Given the description of an element on the screen output the (x, y) to click on. 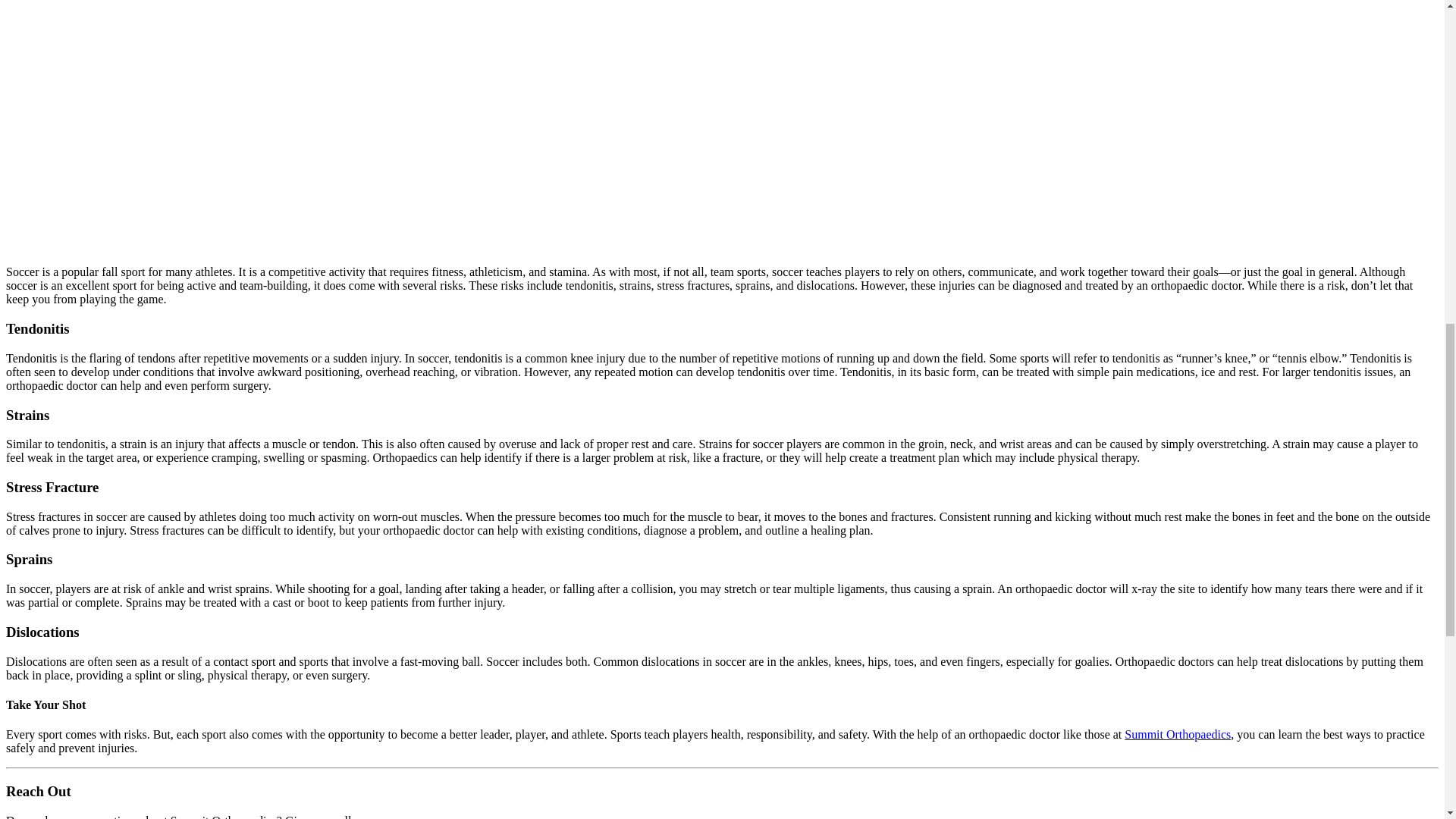
Contact Us (1177, 734)
